Given the description of an element on the screen output the (x, y) to click on. 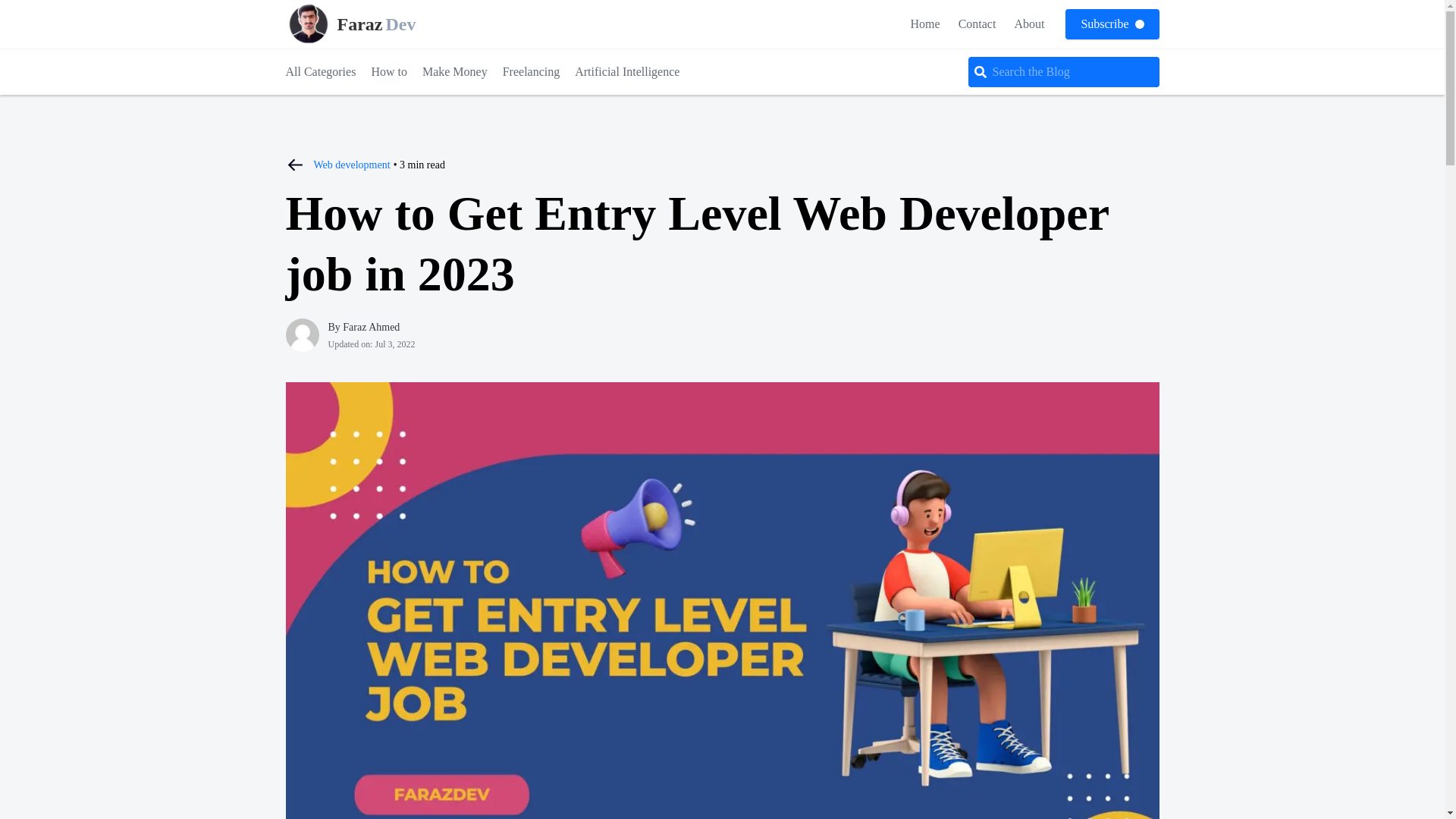
Contact (976, 23)
How to (389, 71)
All Categories (369, 23)
Artificial Intelligence (320, 71)
Home (627, 71)
Web development (925, 23)
About (352, 164)
Freelancing (1028, 23)
Make Money (531, 71)
